Given the description of an element on the screen output the (x, y) to click on. 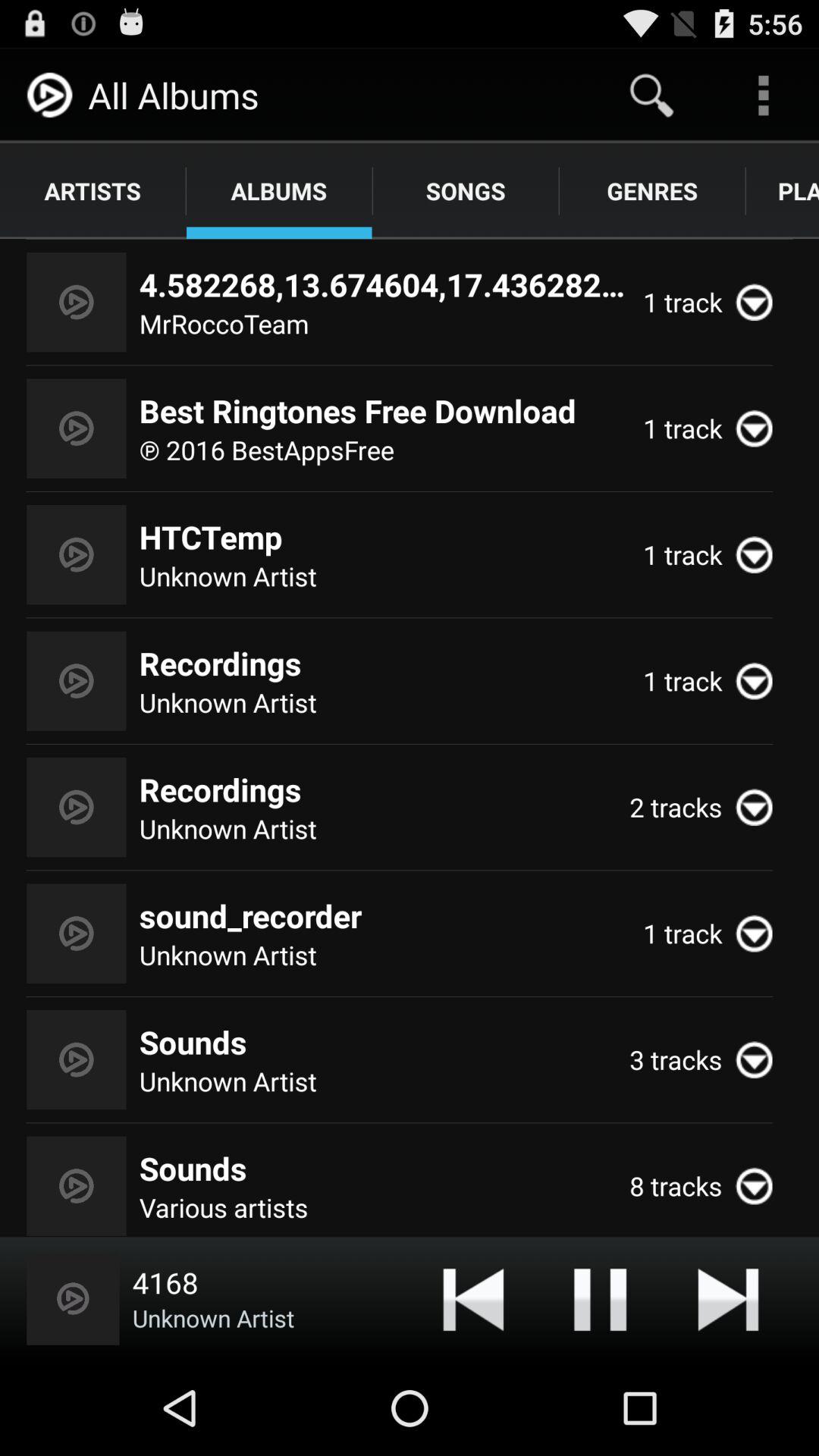
click on the button next to 8 tracks (760, 1186)
select the search icon on the top right of the web page (651, 95)
